Given the description of an element on the screen output the (x, y) to click on. 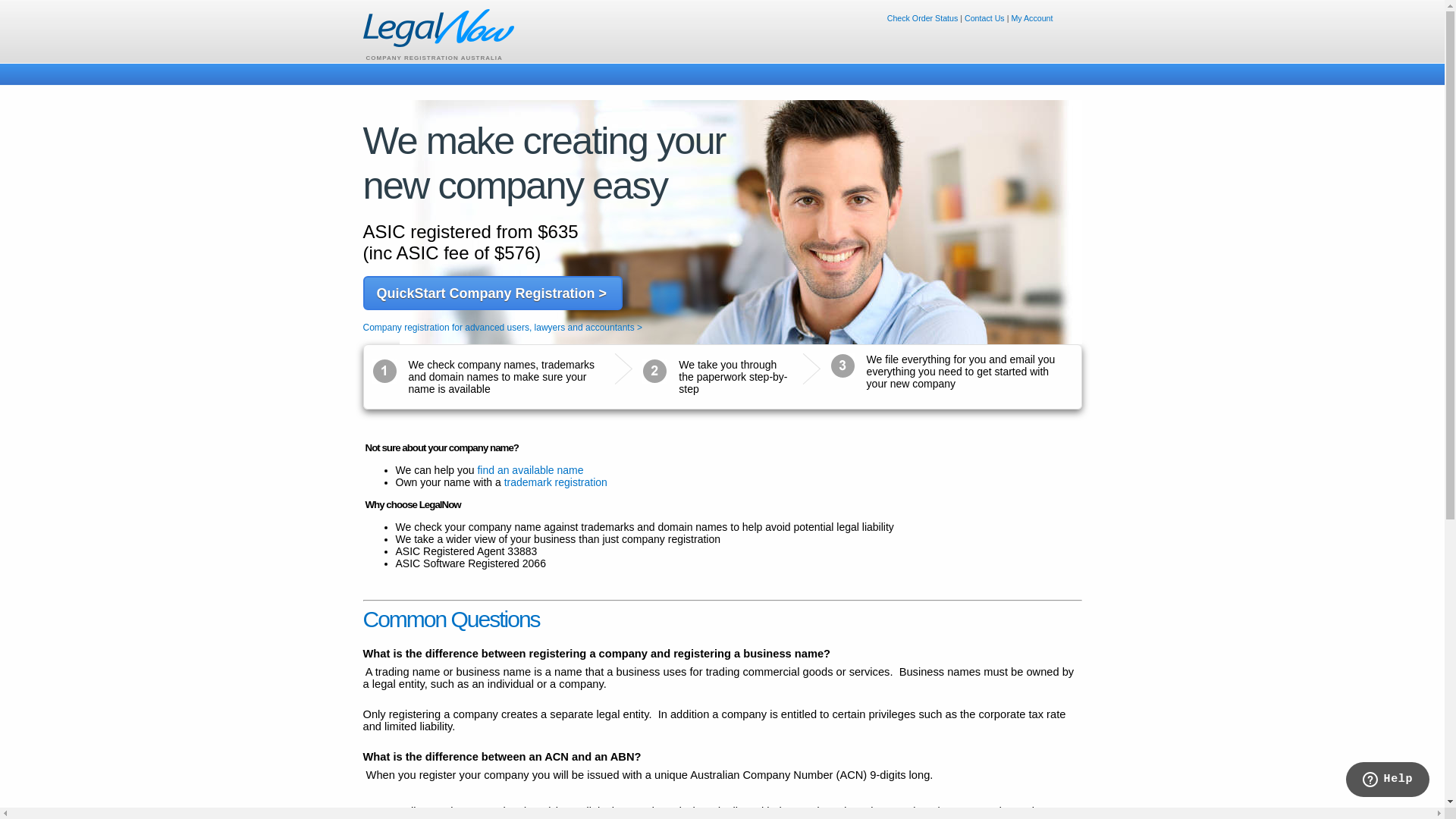
QuickStart Company Registration > Element type: text (491, 293)
Check Order Status Element type: text (922, 17)
Contact Us Element type: text (984, 17)
Opens a widget where you can chat to one of our agents Element type: hover (1387, 781)
find an available name Element type: text (529, 470)
Common Questions Element type: text (450, 618)
trademark registration Element type: text (555, 482)
My Account Element type: text (1031, 17)
